Given the description of an element on the screen output the (x, y) to click on. 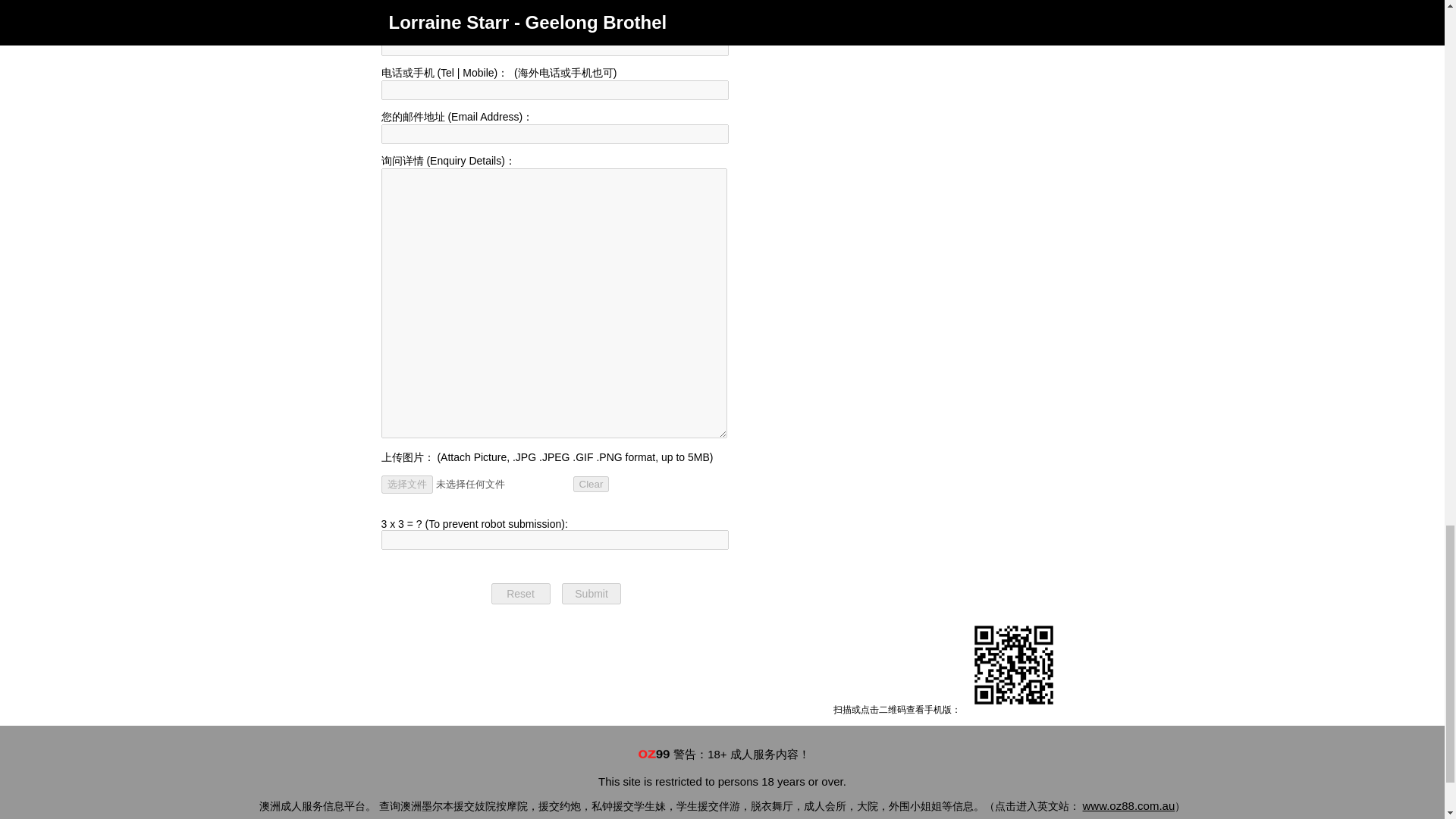
www.oz88.com.au (1128, 805)
Clear (591, 483)
Submit (591, 593)
Reset (521, 593)
Submit (591, 593)
